Given the description of an element on the screen output the (x, y) to click on. 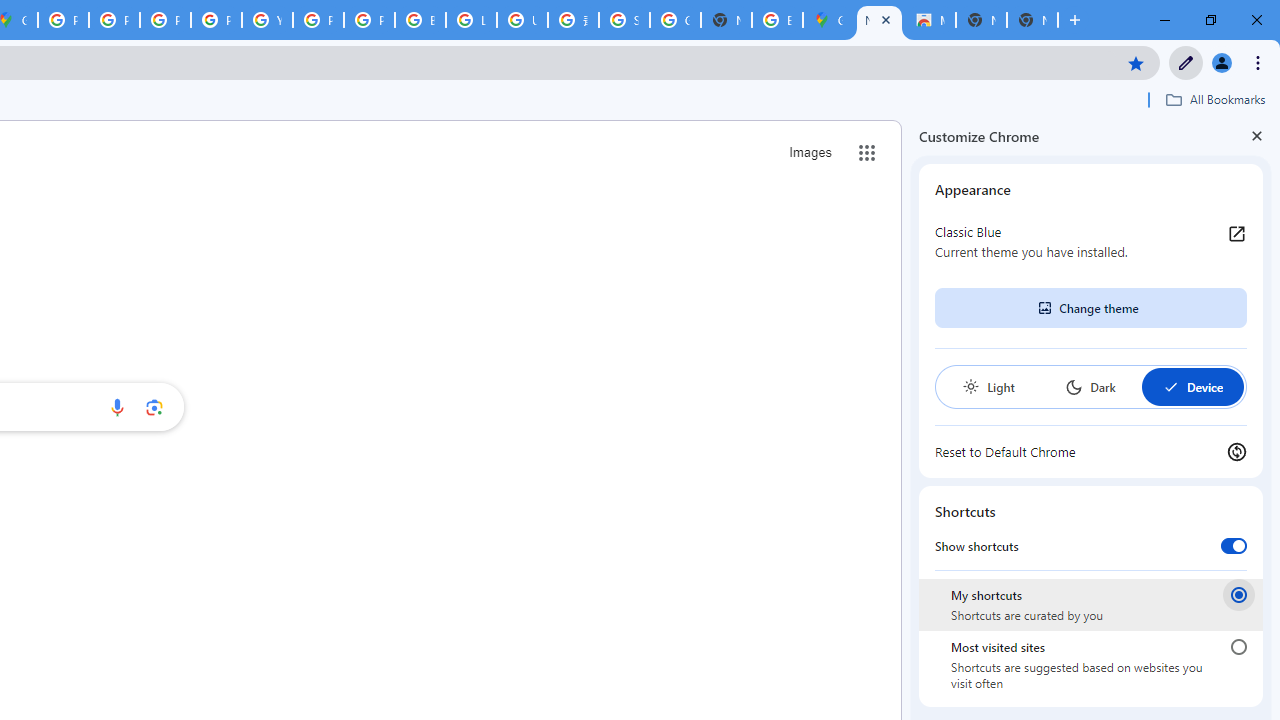
Privacy Help Center - Policies Help (164, 20)
All Bookmarks (1215, 99)
Search for Images  (810, 152)
Search by image (153, 407)
Explore new street-level details - Google Maps Help (776, 20)
Sign in - Google Accounts (624, 20)
Light (988, 386)
Customize Chrome (1185, 62)
Change theme (1090, 308)
YouTube (267, 20)
